Given the description of an element on the screen output the (x, y) to click on. 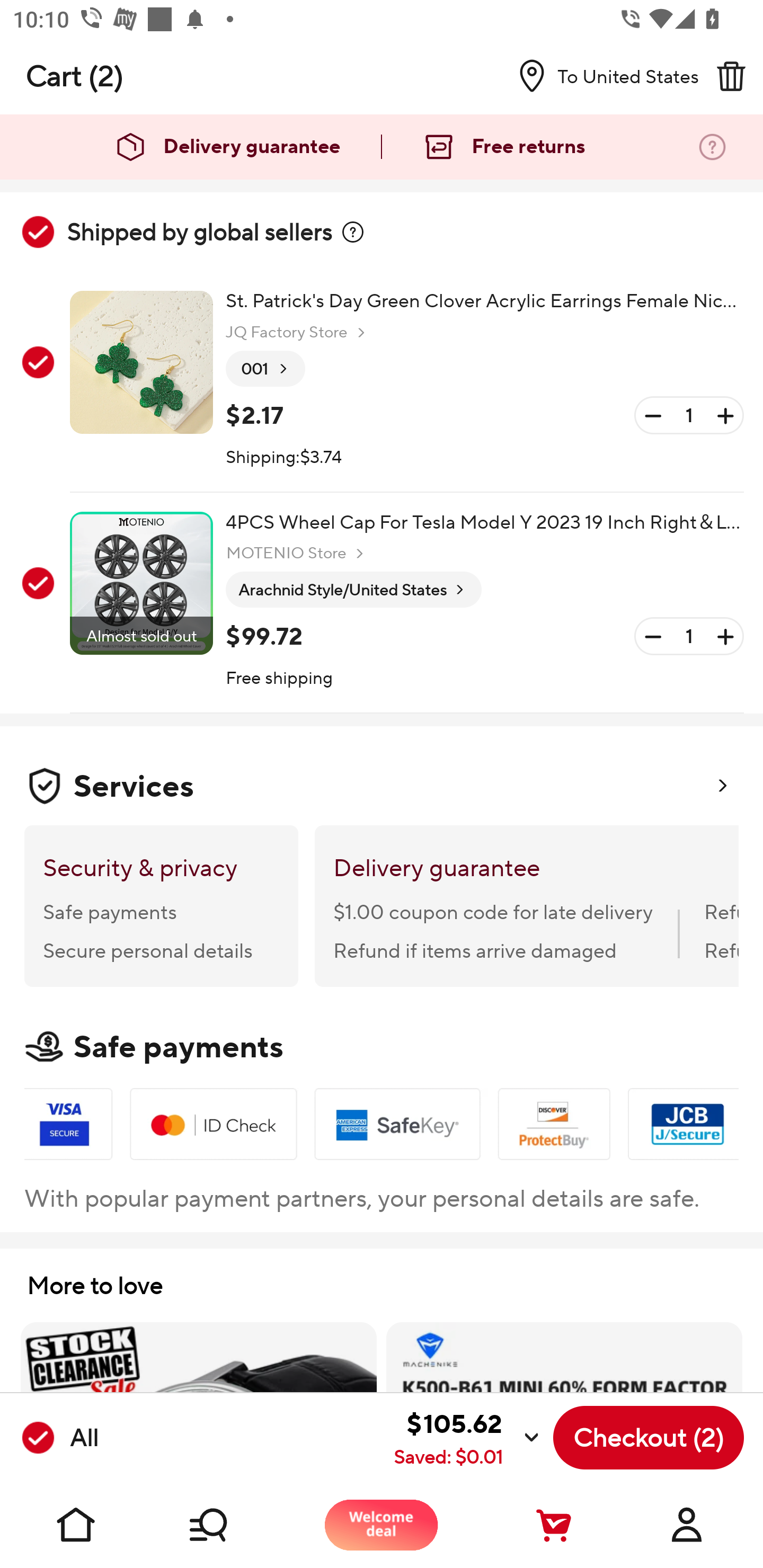
 To United States (601, 75)
 (730, 75)
 (352, 231)
JQ Factory Store (297, 333)
001 (265, 369)
1 (688, 415)
MOTENIO Store (296, 553)
Arachnid Style/United States (353, 590)
1 (688, 636)
$_105.62 Saved: $0.01  (324, 1437)
Checkout (2) (648, 1437)
Home (76, 1524)
Shop (228, 1524)
Account (686, 1524)
